Given the description of an element on the screen output the (x, y) to click on. 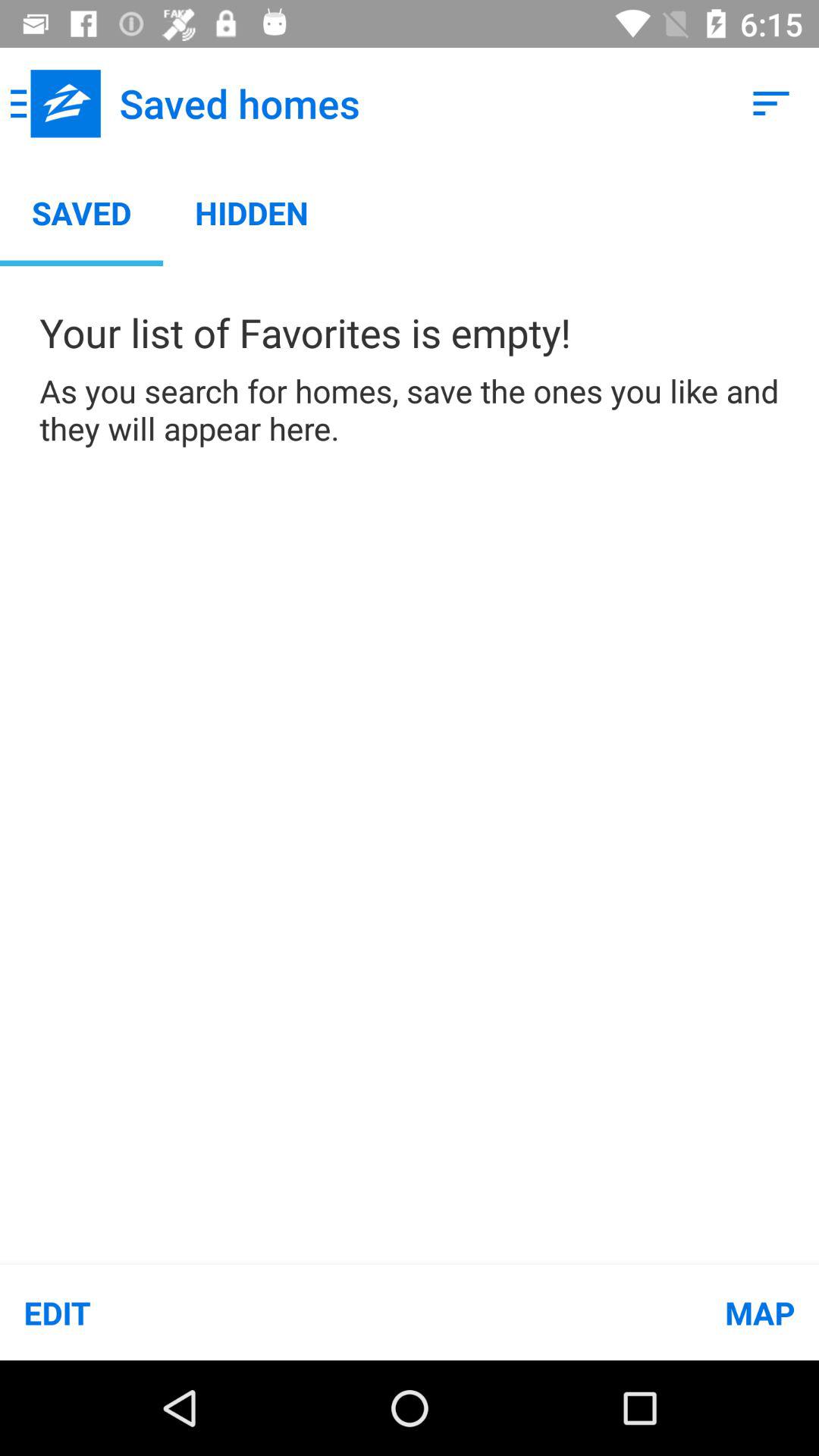
choose the icon next to map icon (204, 1312)
